Given the description of an element on the screen output the (x, y) to click on. 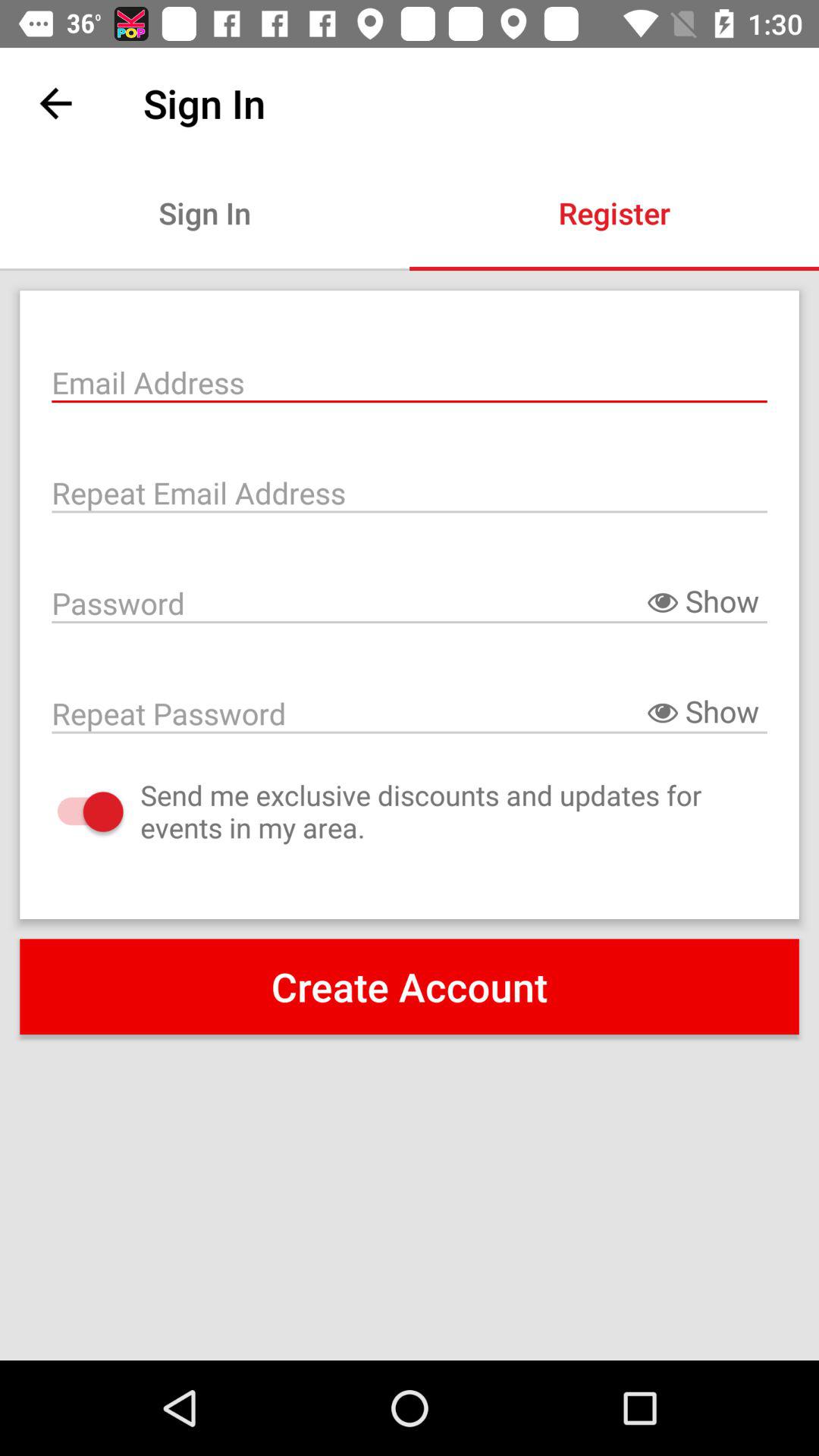
go to previous (55, 103)
